Given the description of an element on the screen output the (x, y) to click on. 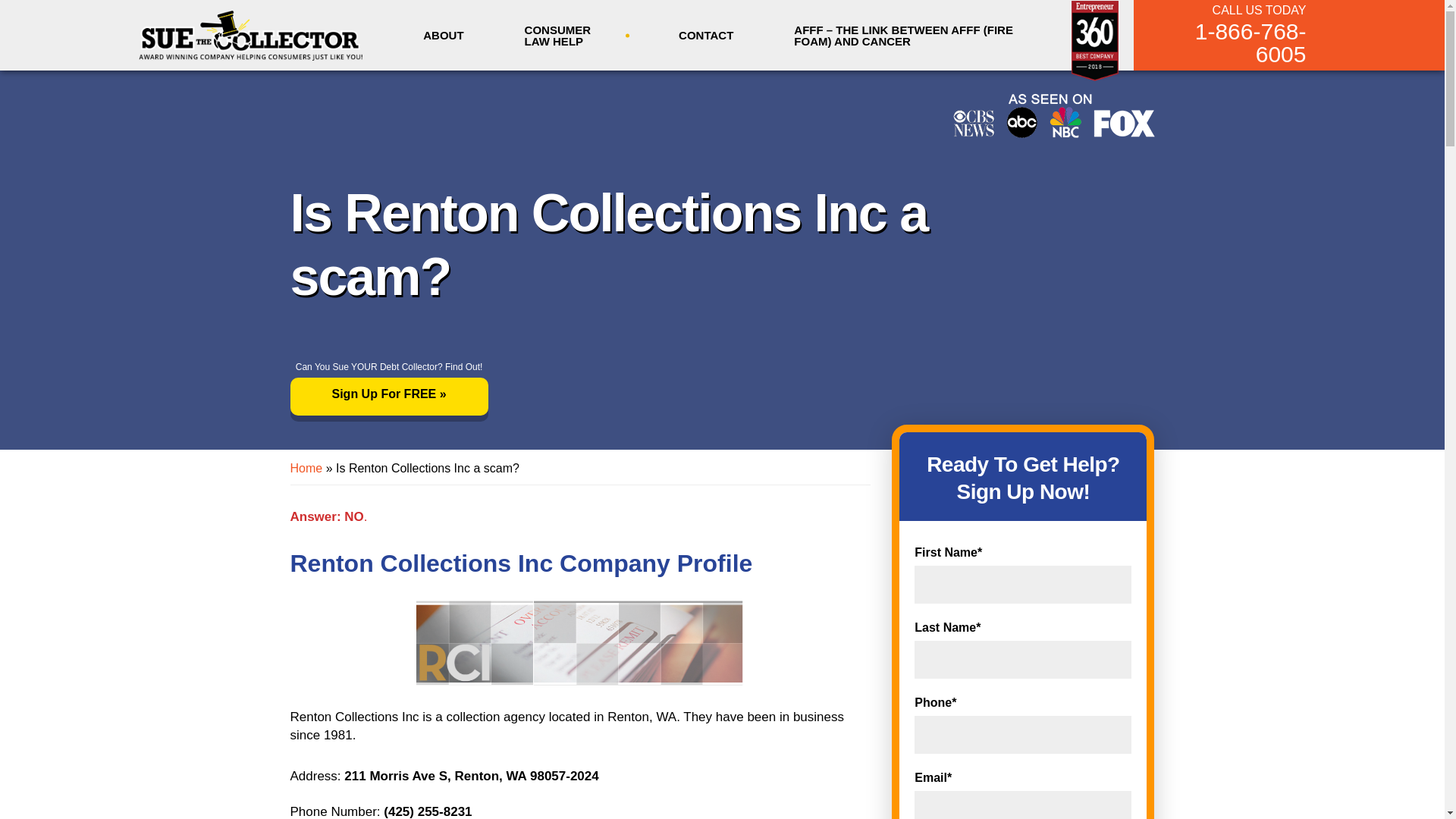
Sue The Collector (250, 34)
CONSUMER LAW HELP (571, 38)
Home (305, 468)
1-866-768-6005 (1231, 43)
Channels (1053, 115)
1-866-768-6005 (1231, 43)
ABOUT (443, 34)
CONTACT (705, 34)
